Given the description of an element on the screen output the (x, y) to click on. 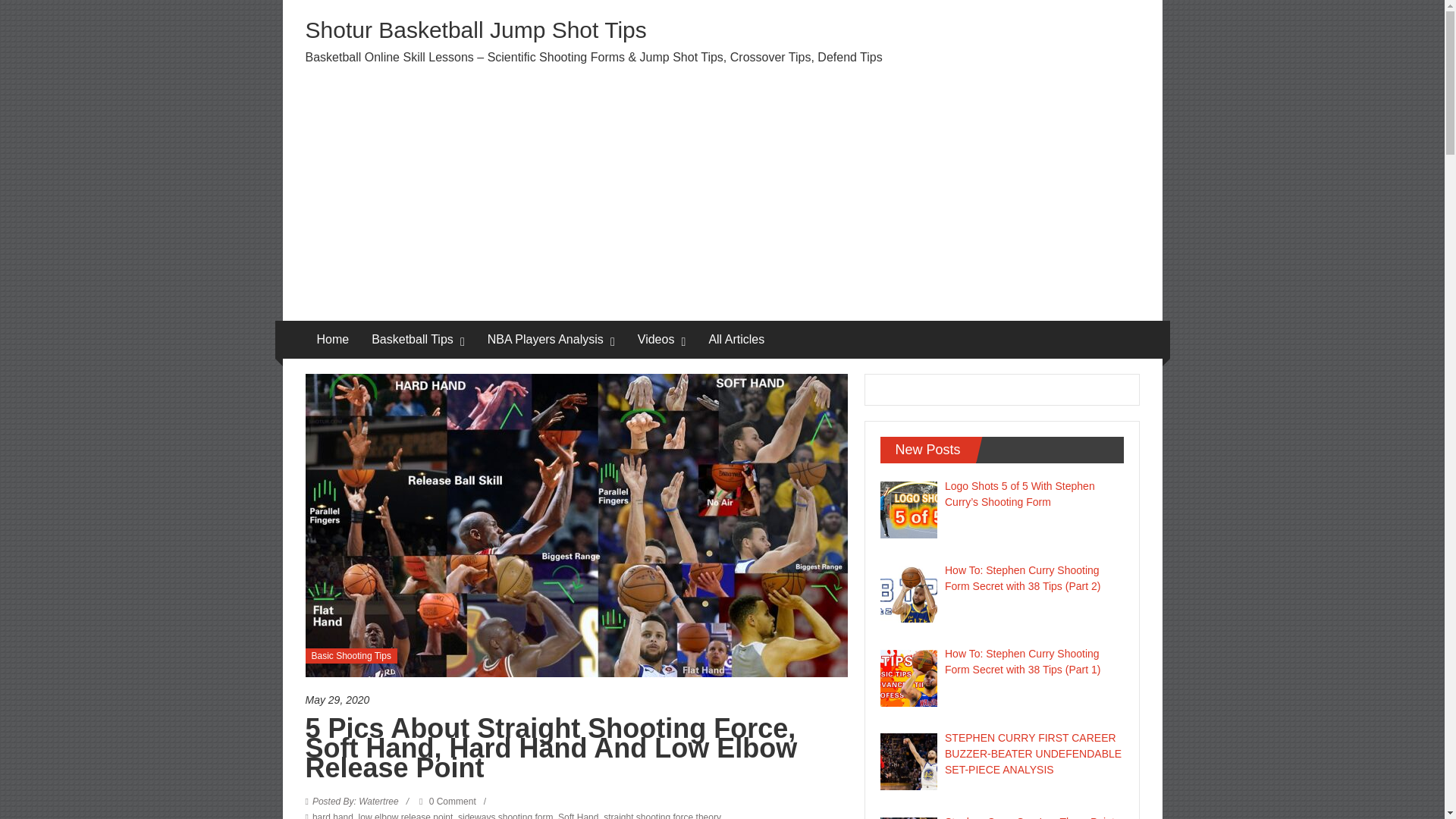
Soft Hand (577, 815)
straight shooting force theory (662, 815)
0 Comment (447, 801)
NBA Players Analysis (545, 339)
May 29, 2020 (575, 700)
low elbow release point (405, 815)
hard hand (333, 815)
Shotur Basketball Jump Shot Tips (475, 29)
Basketball Tips (411, 339)
sideways shooting form (505, 815)
Posted By: Watertree (355, 801)
Basic Shooting Tips (350, 655)
Watertree (355, 801)
4:50 am (575, 700)
